Given the description of an element on the screen output the (x, y) to click on. 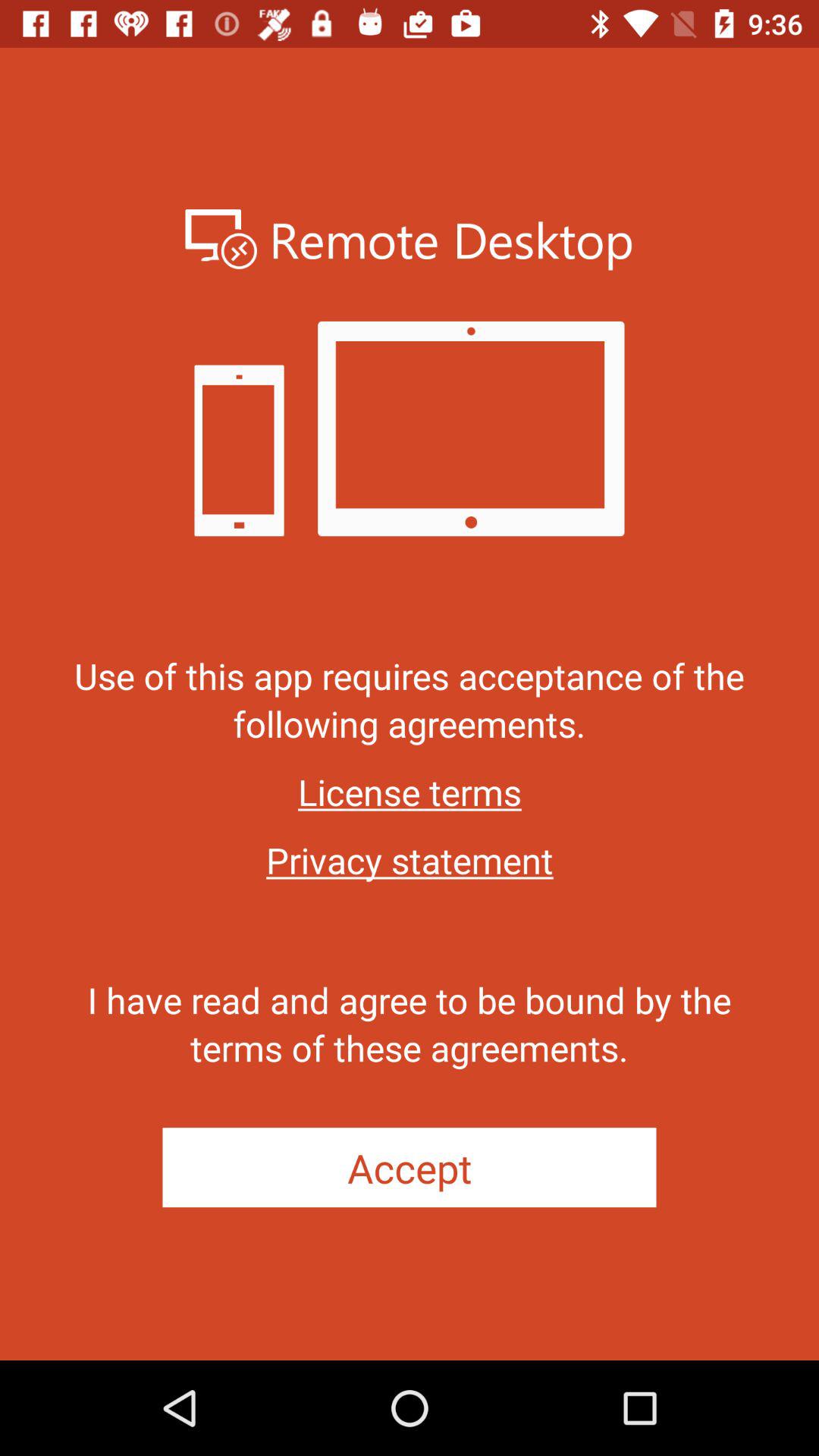
jump to the privacy statement item (409, 860)
